Given the description of an element on the screen output the (x, y) to click on. 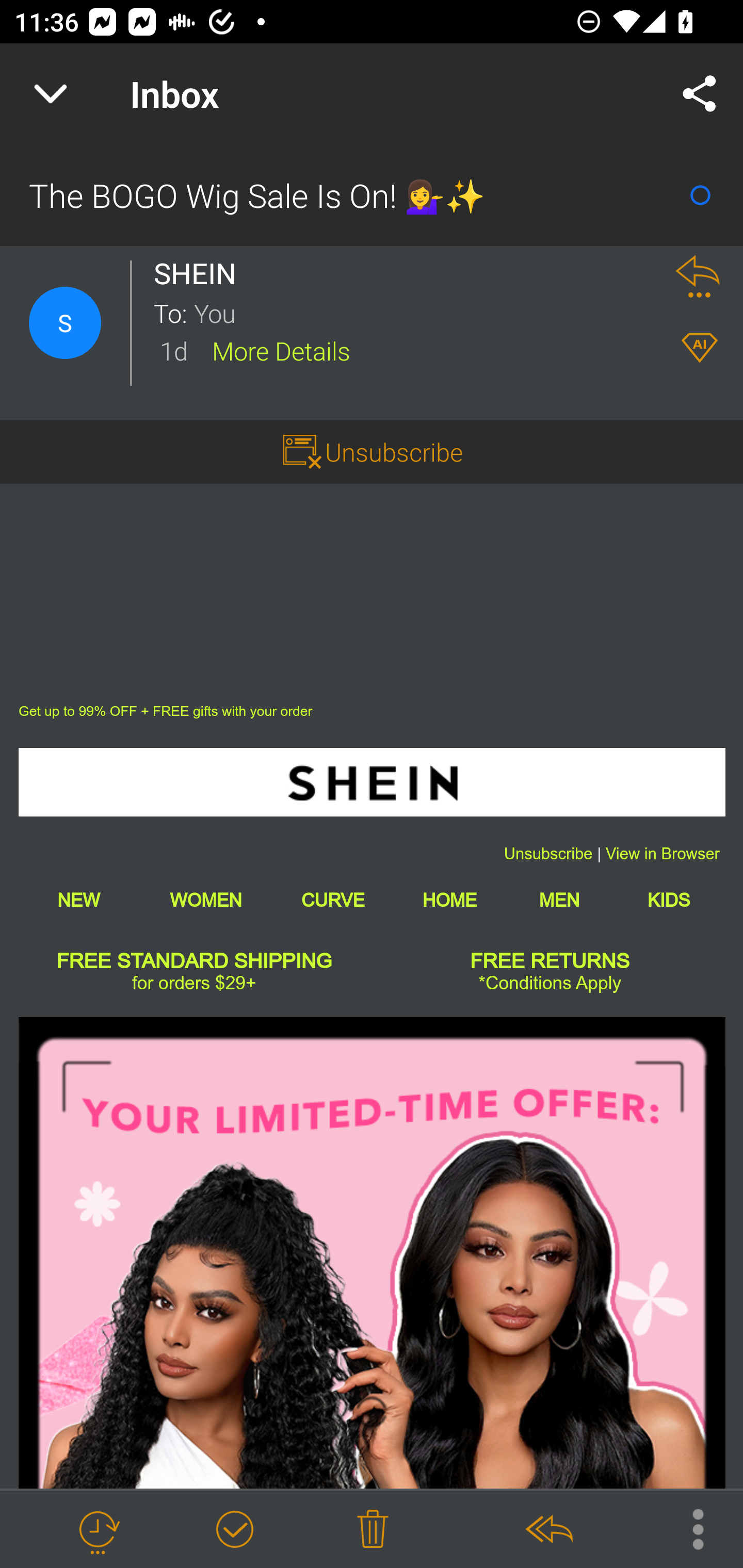
Navigate up (50, 93)
Share (699, 93)
Mark as Read (699, 194)
SHEIN (200, 273)
Contact Details (64, 322)
You (422, 311)
More Details (280, 349)
Unsubscribe (393, 451)
Get up to 99% OFF + FREE gifts with your order (165, 710)
SHEIN (371, 781)
Unsubscribe (547, 854)
View in Browser (661, 854)
NEW (78, 900)
WOMEN (205, 900)
CURVE (332, 900)
HOME (449, 900)
MEN (559, 900)
KIDS (668, 900)
FREE STANDARD SHIPPING (194, 962)
FREE RETURNS (549, 962)
for orders $29+ (193, 983)
*Conditions Apply (549, 983)
SHOP THE SALE (371, 1252)
More Options (687, 1528)
Snooze (97, 1529)
Mark as Done (234, 1529)
Delete (372, 1529)
Reply All (548, 1529)
